Given the description of an element on the screen output the (x, y) to click on. 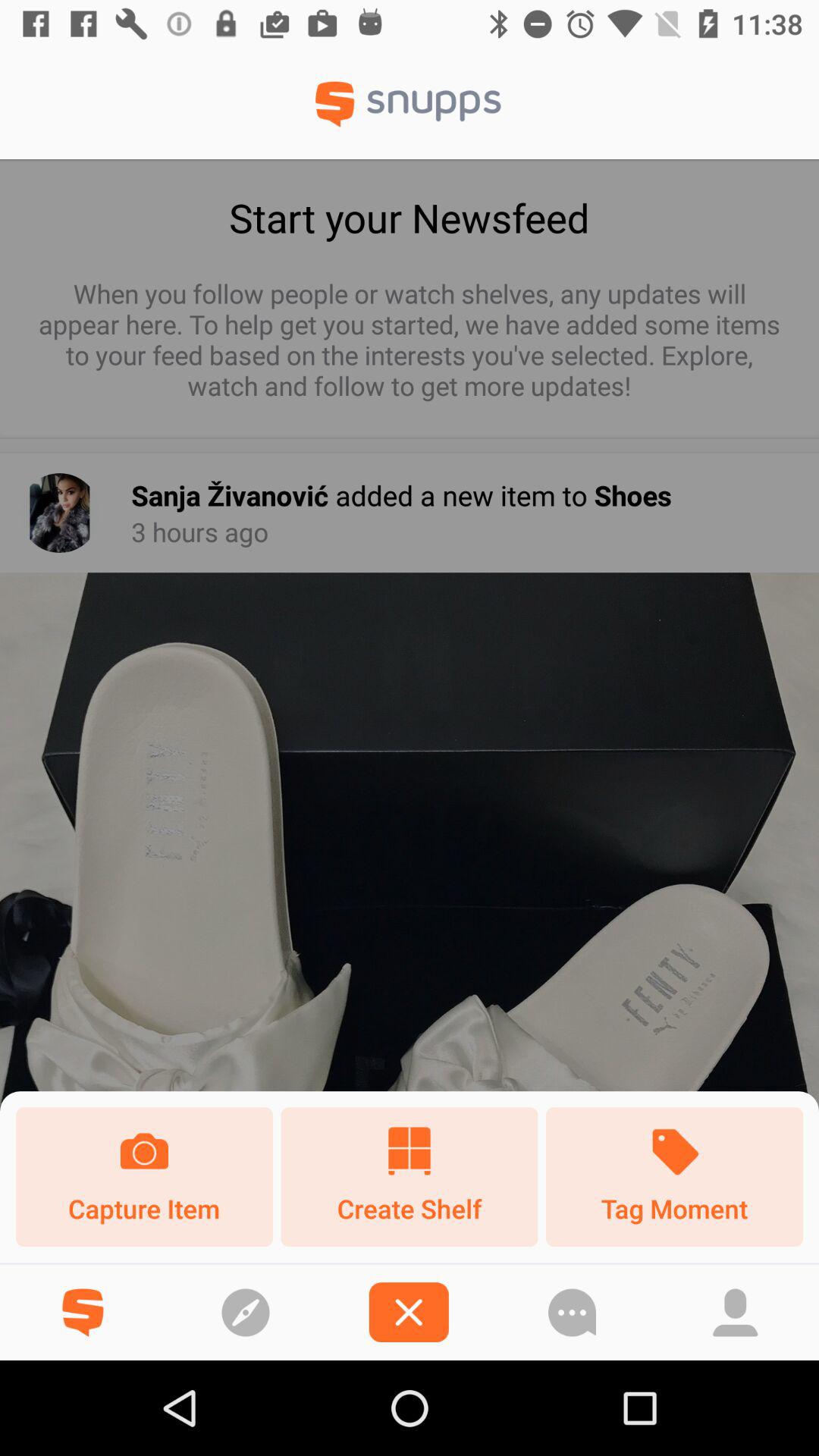
launch icon below the when you follow item (59, 512)
